Given the description of an element on the screen output the (x, y) to click on. 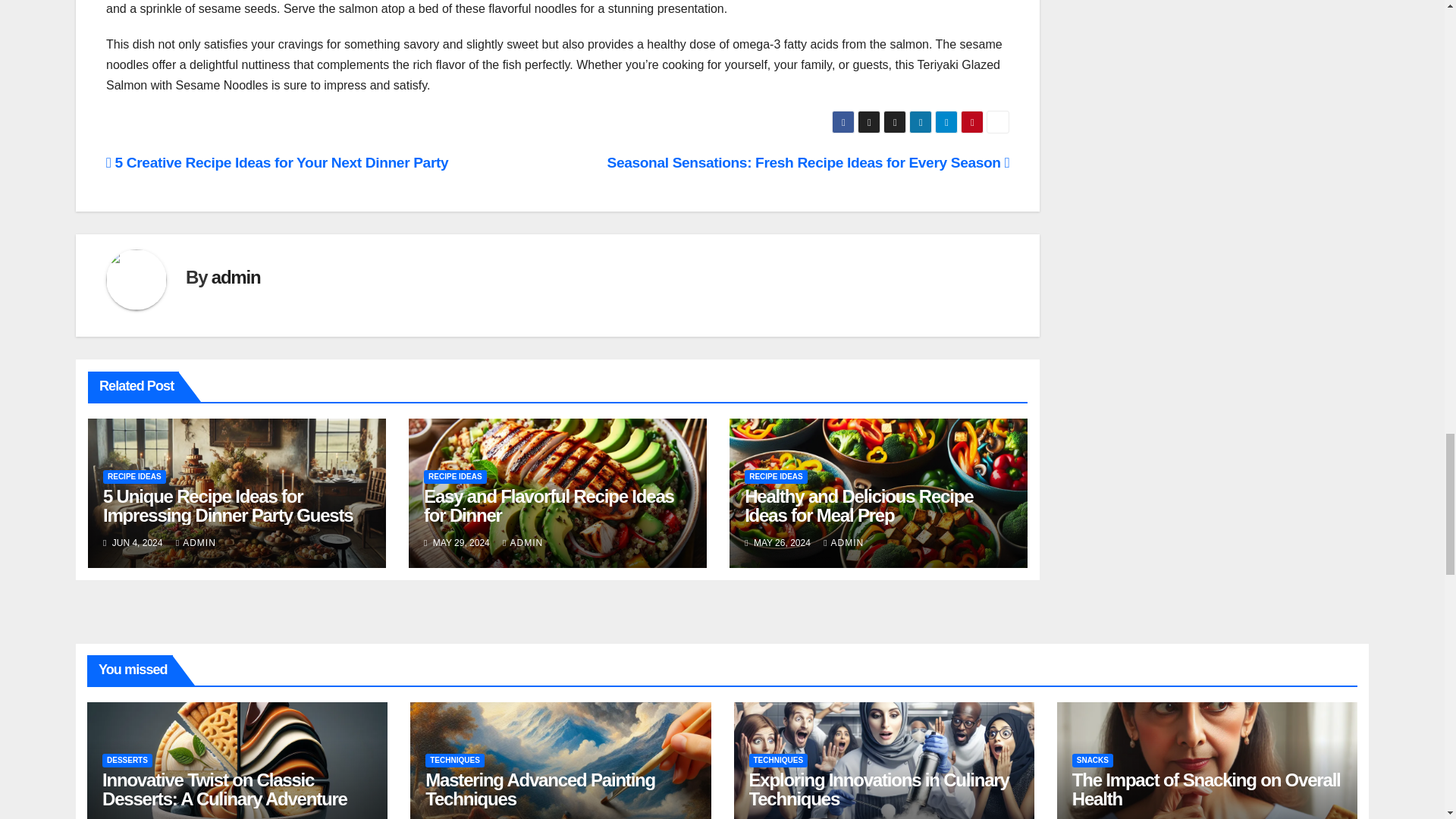
Permalink to: Mastering Advanced Painting Techniques (540, 789)
Permalink to: The Impact of Snacking on Overall Health (1205, 789)
Permalink to: Easy and Flavorful Recipe Ideas for Dinner (548, 505)
Permalink to: Exploring Innovations in Culinary Techniques (879, 789)
